Given the description of an element on the screen output the (x, y) to click on. 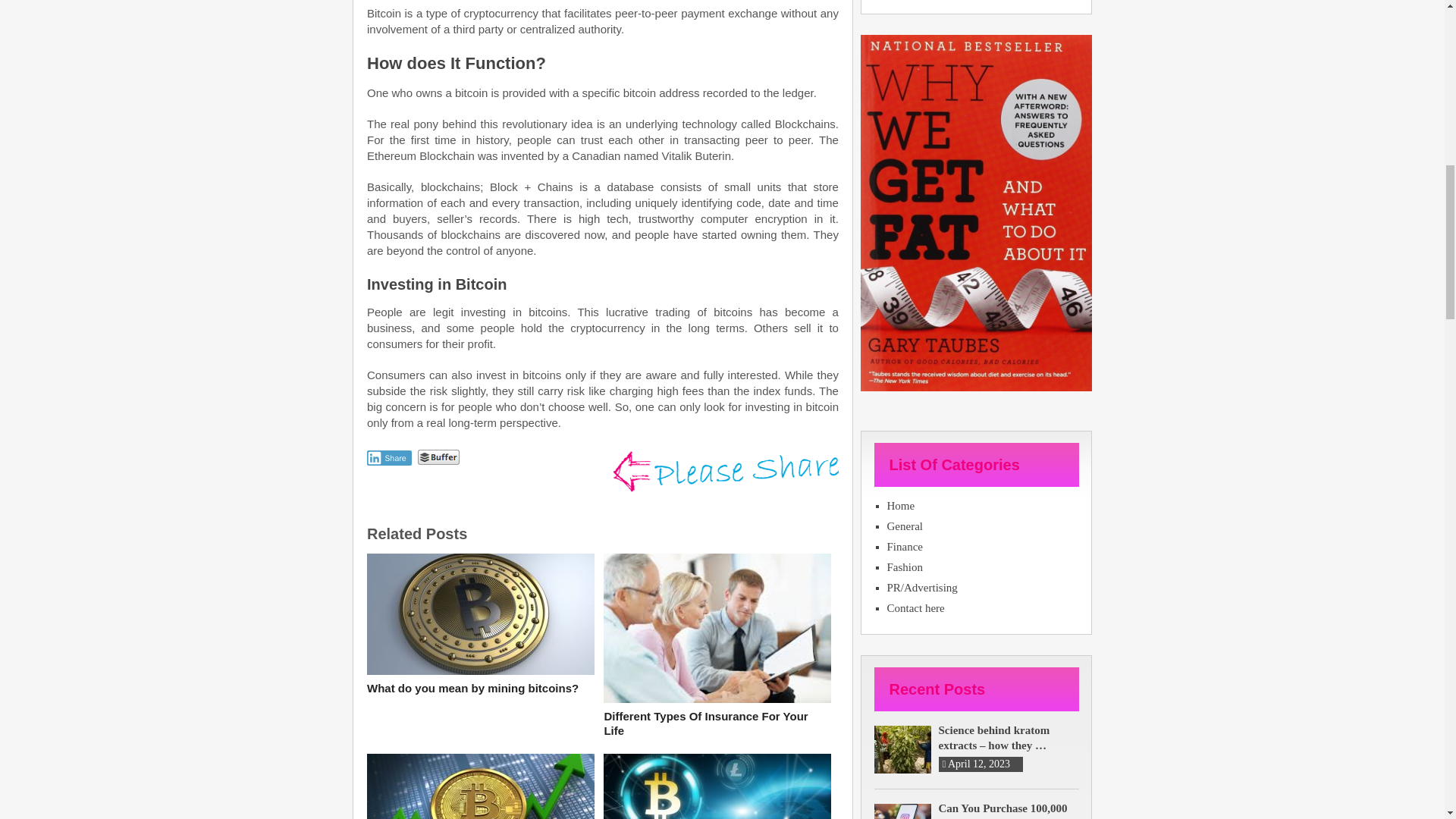
What do you mean by mining bitcoins? (480, 688)
General (982, 525)
Share (389, 458)
Different Types Of Insurance For Your Life (717, 723)
Different Types Of Insurance For Your Life (717, 723)
Home (982, 505)
What do you mean by mining bitcoins? (480, 688)
